Given the description of an element on the screen output the (x, y) to click on. 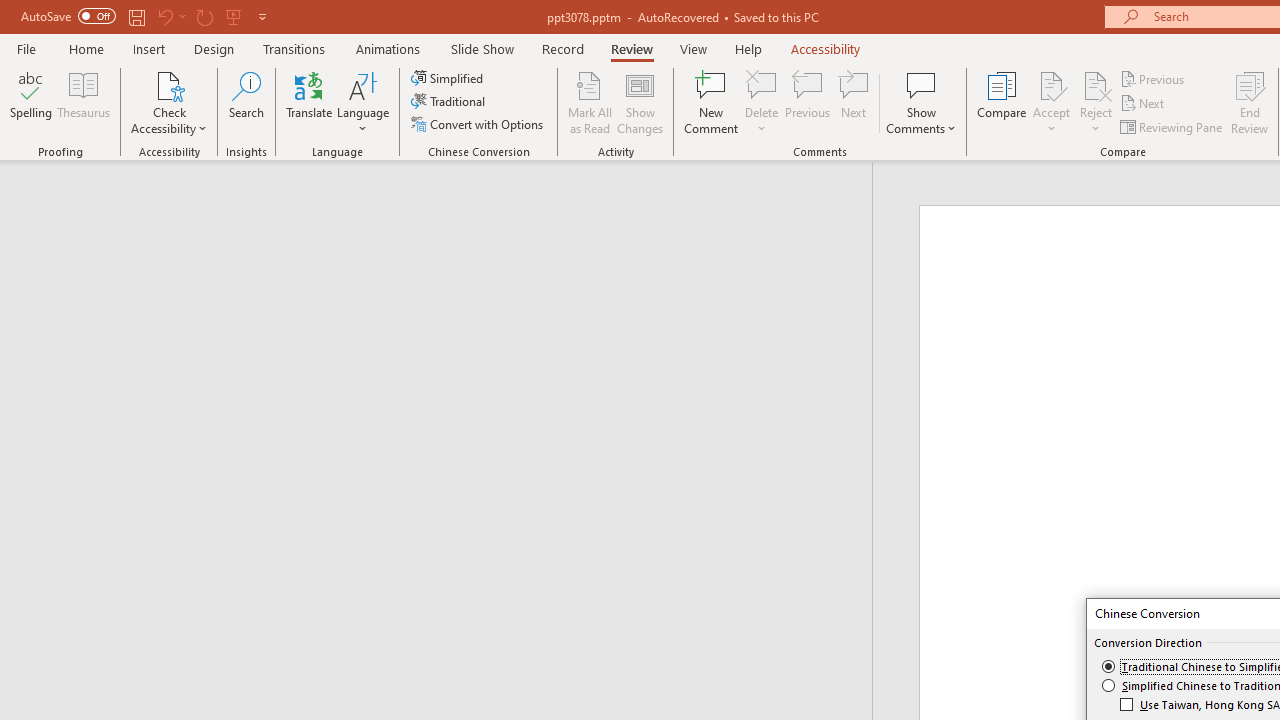
Convert with Options... (479, 124)
Translate (309, 102)
Reviewing Pane (1172, 126)
Simplified (449, 78)
End Review (1249, 102)
